Given the description of an element on the screen output the (x, y) to click on. 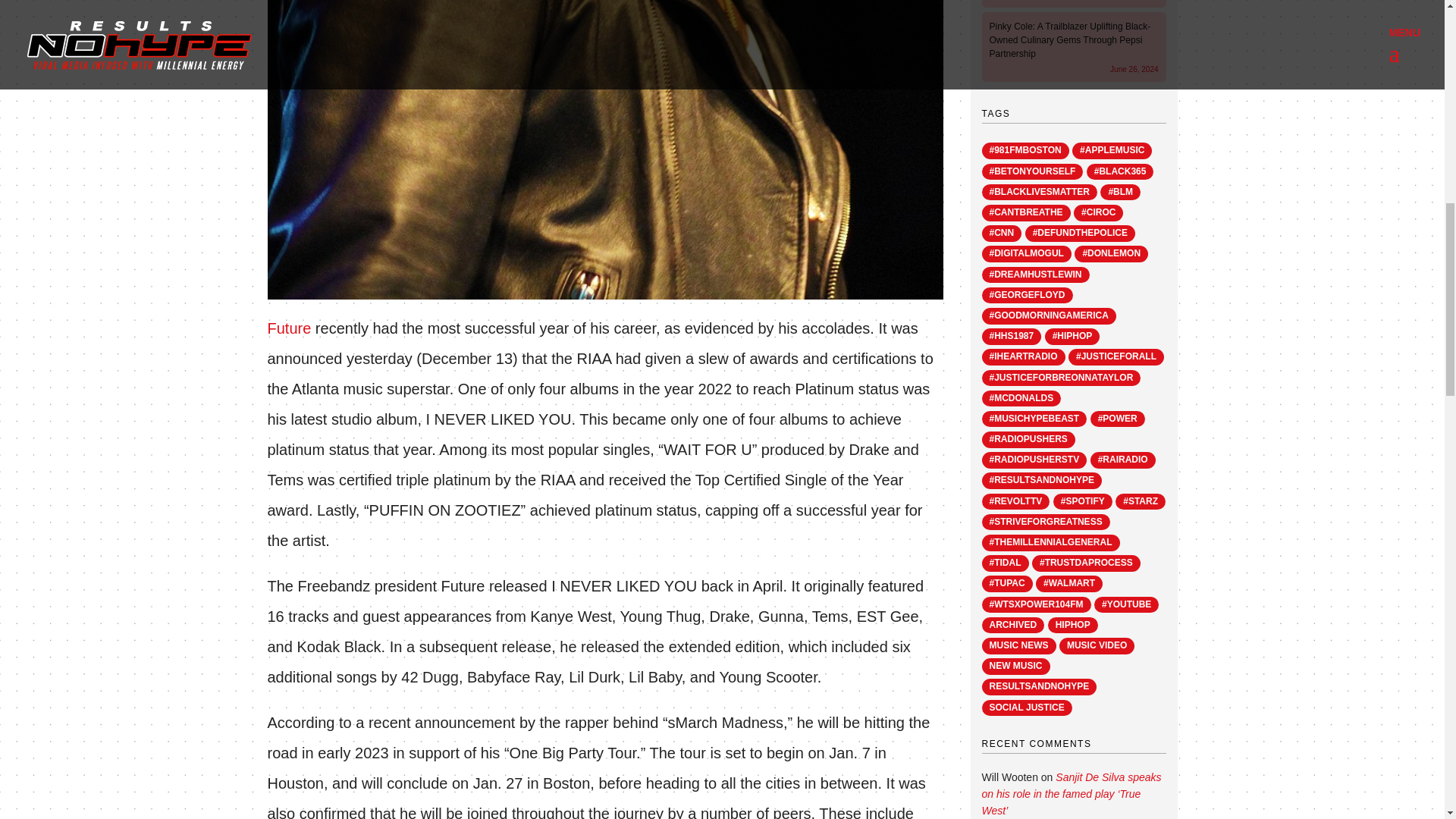
Future (290, 328)
